Given the description of an element on the screen output the (x, y) to click on. 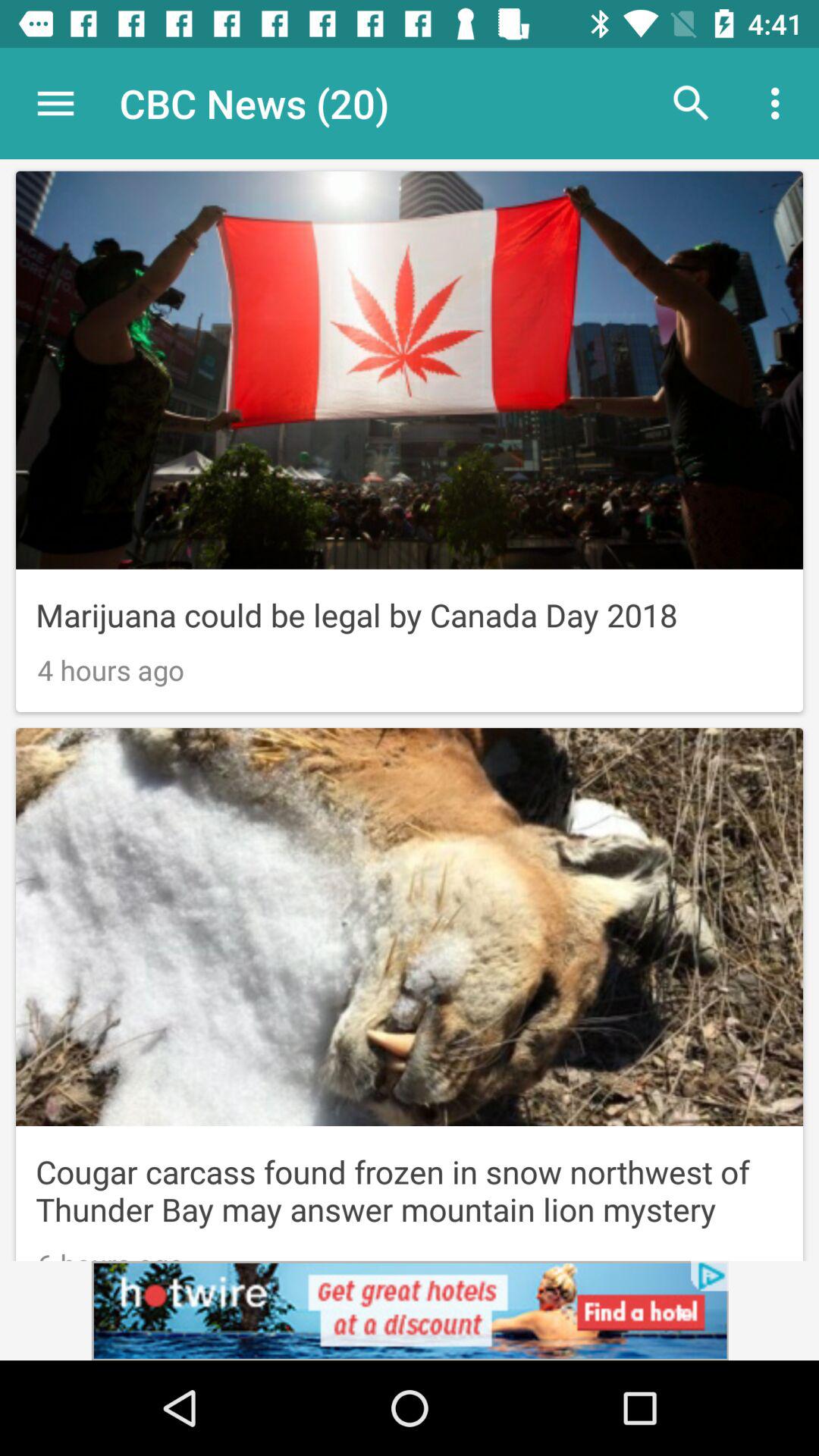
click the advertisement (409, 1310)
